Given the description of an element on the screen output the (x, y) to click on. 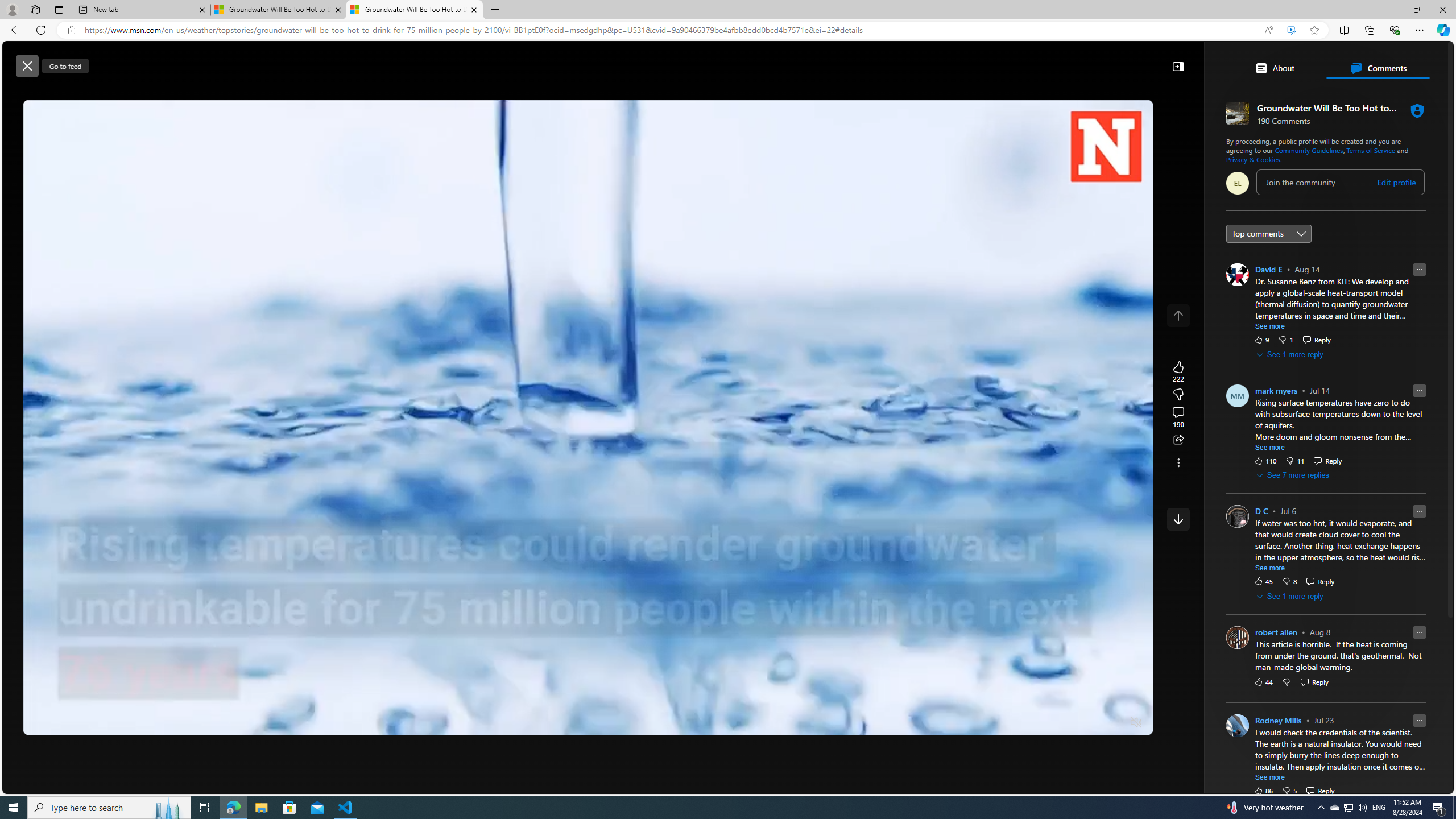
86 Like (1262, 790)
222 Like (1178, 371)
To get missing image descriptions, open the context menu. (1109, 92)
Enter your search term (730, 59)
Sort comments by (1268, 233)
Feedback (1410, 784)
Privacy & Cookies (1252, 158)
Edit profile (1396, 181)
David E (1268, 269)
Terms of Service (1371, 149)
